Given the description of an element on the screen output the (x, y) to click on. 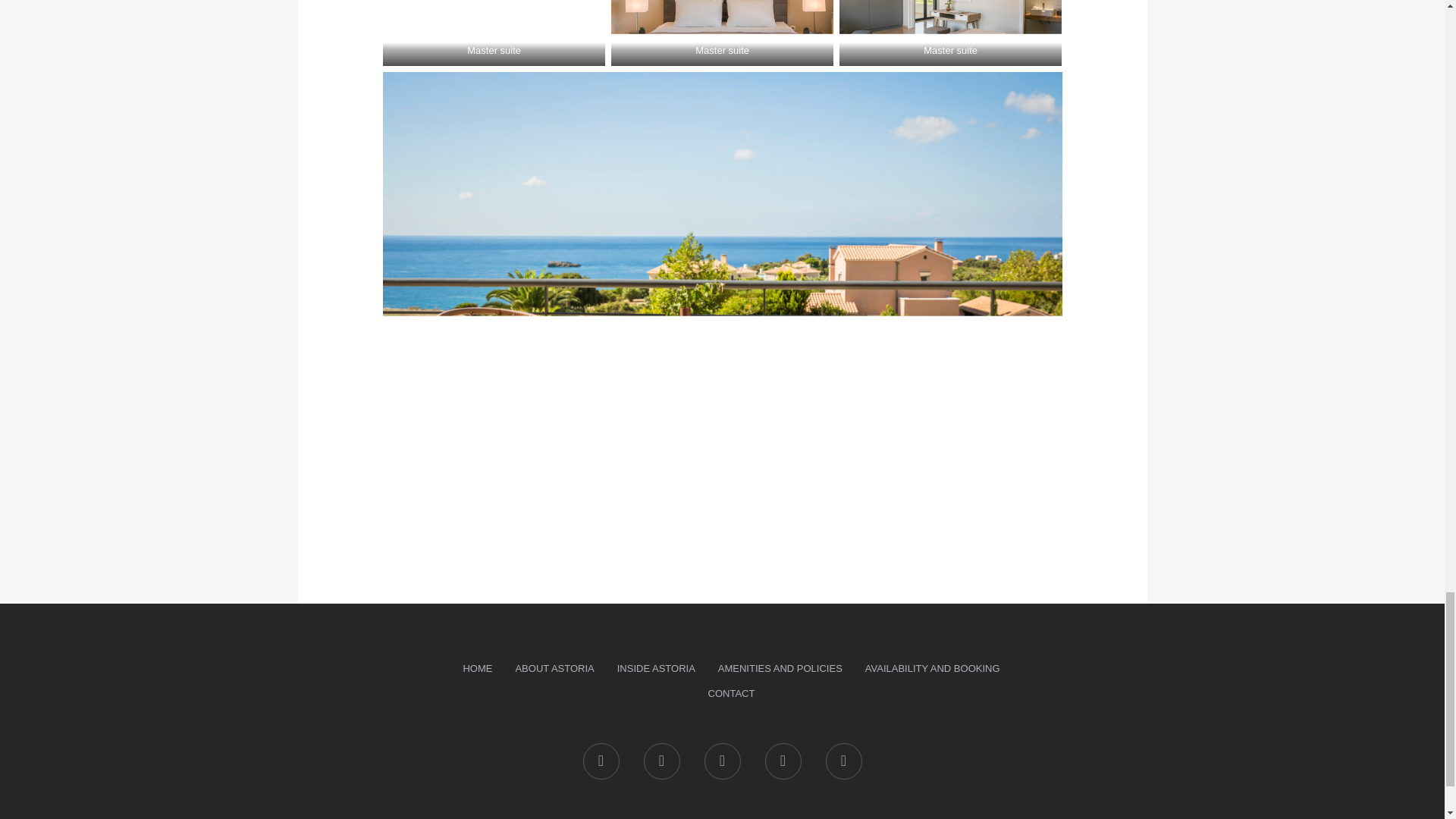
INSIDE ASTORIA (655, 668)
Instagram (721, 760)
Foursquare (782, 760)
HOME (477, 668)
Tripadvisor (843, 760)
AMENITIES AND POLICIES (779, 668)
ABOUT ASTORIA (554, 668)
Twitter (661, 760)
Facebook (600, 760)
CONTACT (732, 693)
